Given the description of an element on the screen output the (x, y) to click on. 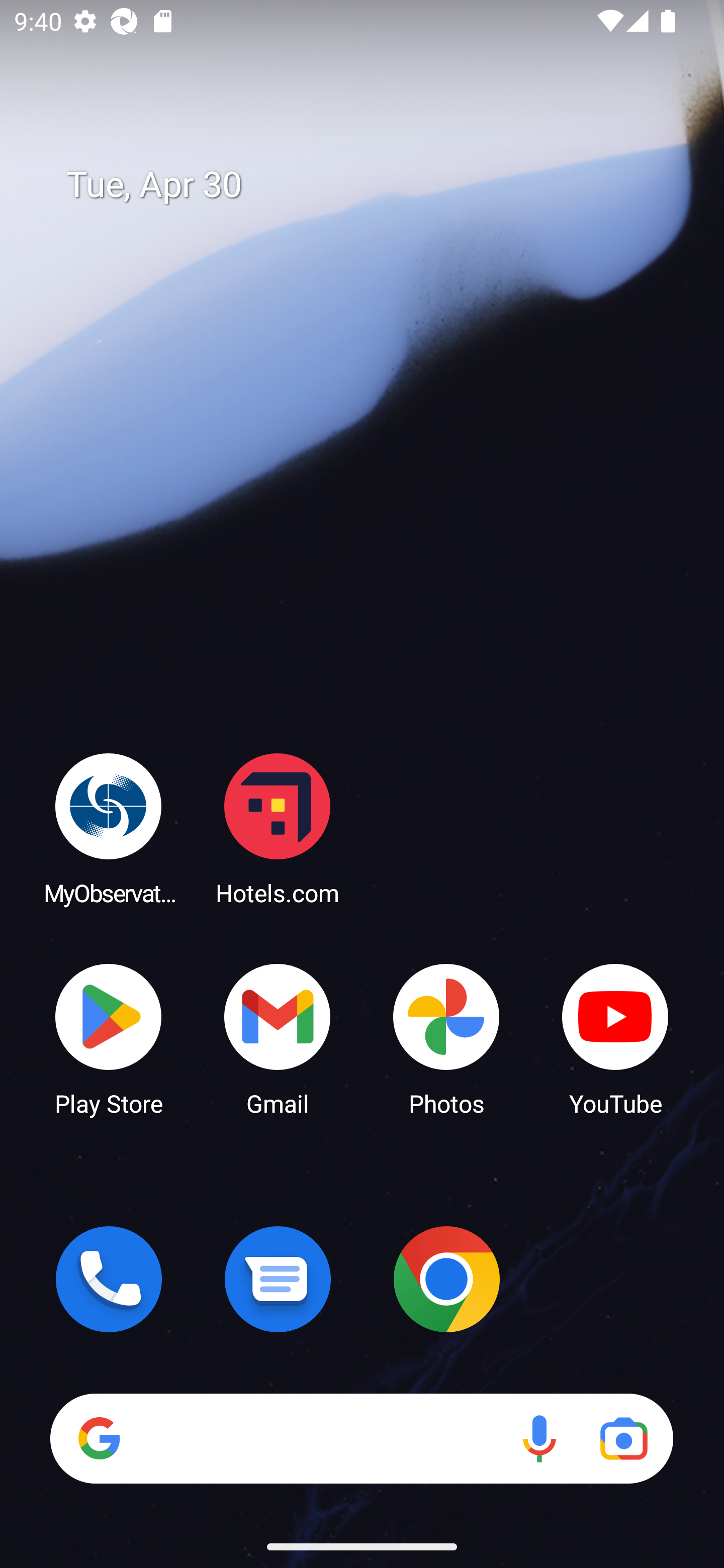
Tue, Apr 30 (375, 184)
MyObservatory (108, 828)
Hotels.com (277, 828)
Play Store (108, 1038)
Gmail (277, 1038)
Photos (445, 1038)
YouTube (615, 1038)
Phone (108, 1279)
Messages (277, 1279)
Chrome (446, 1279)
Voice search (539, 1438)
Google Lens (623, 1438)
